Given the description of an element on the screen output the (x, y) to click on. 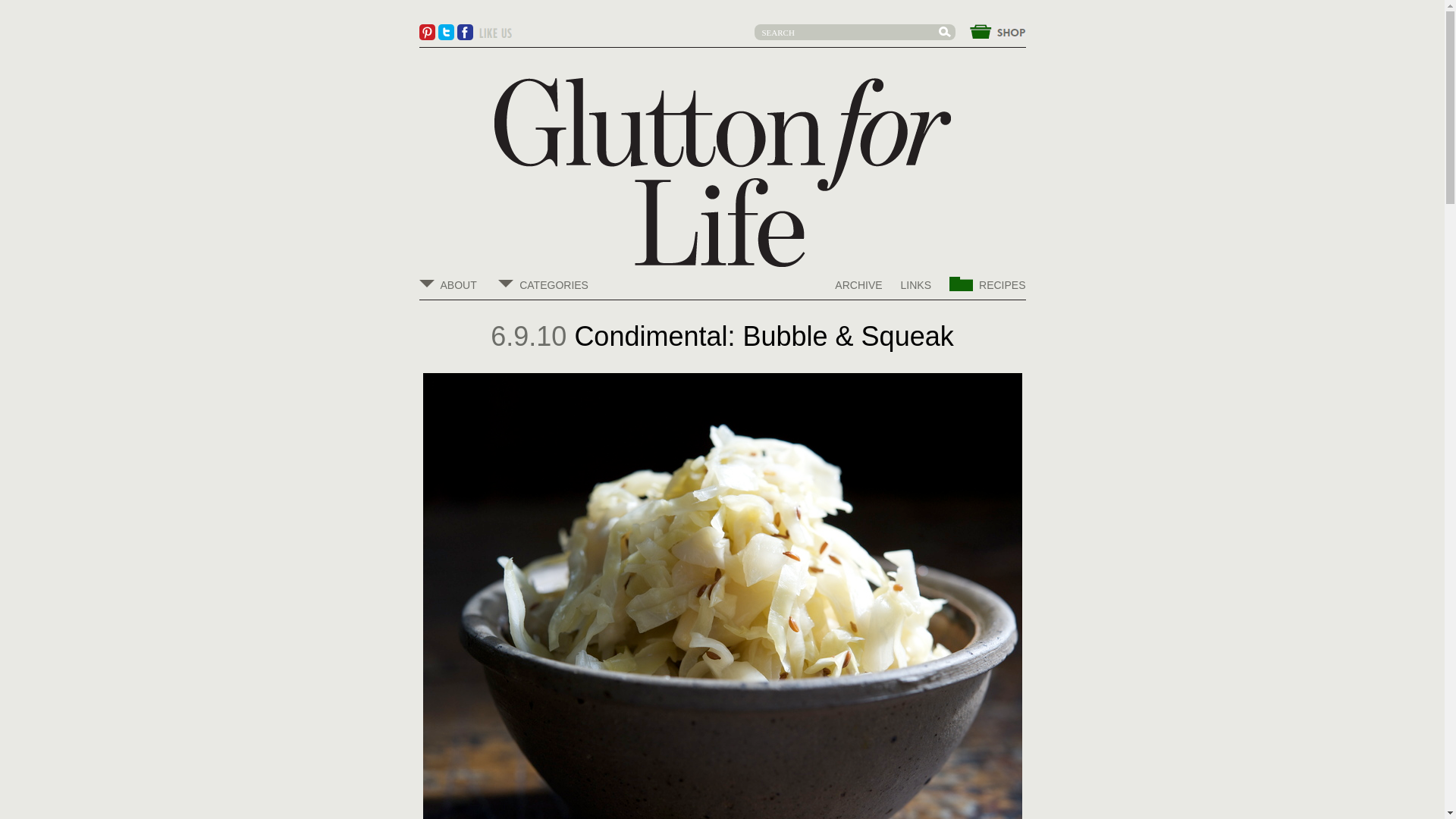
RECIPES (987, 287)
ARCHIVE (858, 285)
LINKS (916, 285)
